Given the description of an element on the screen output the (x, y) to click on. 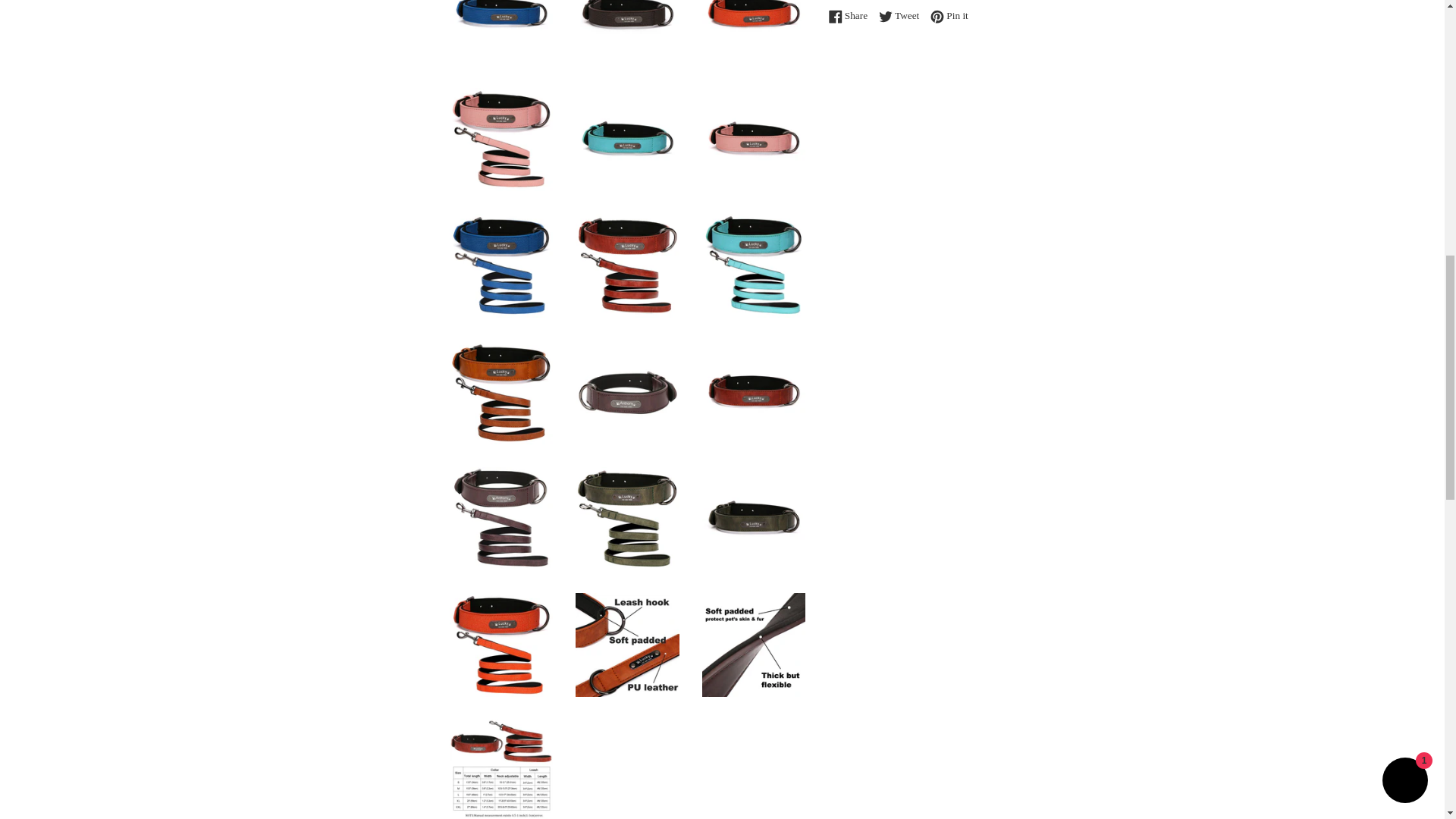
Share on Facebook (851, 15)
Tweet on Twitter (902, 15)
Pin on Pinterest (949, 15)
